Given the description of an element on the screen output the (x, y) to click on. 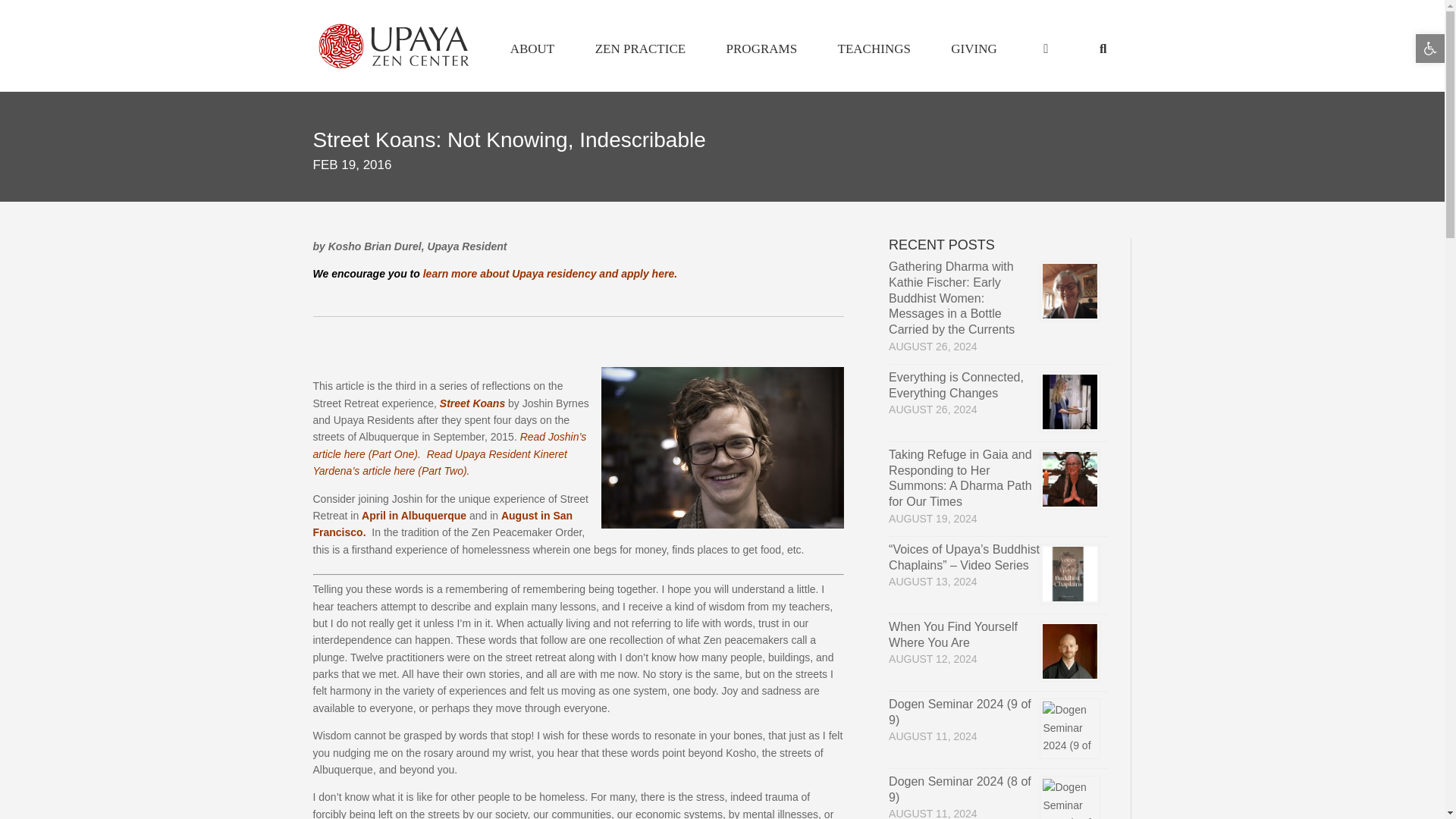
PROGRAMS (761, 48)
TEACHINGS (873, 48)
Accessibility Tools (1430, 48)
ZEN PRACTICE (640, 48)
ABOUT (532, 48)
